Given the description of an element on the screen output the (x, y) to click on. 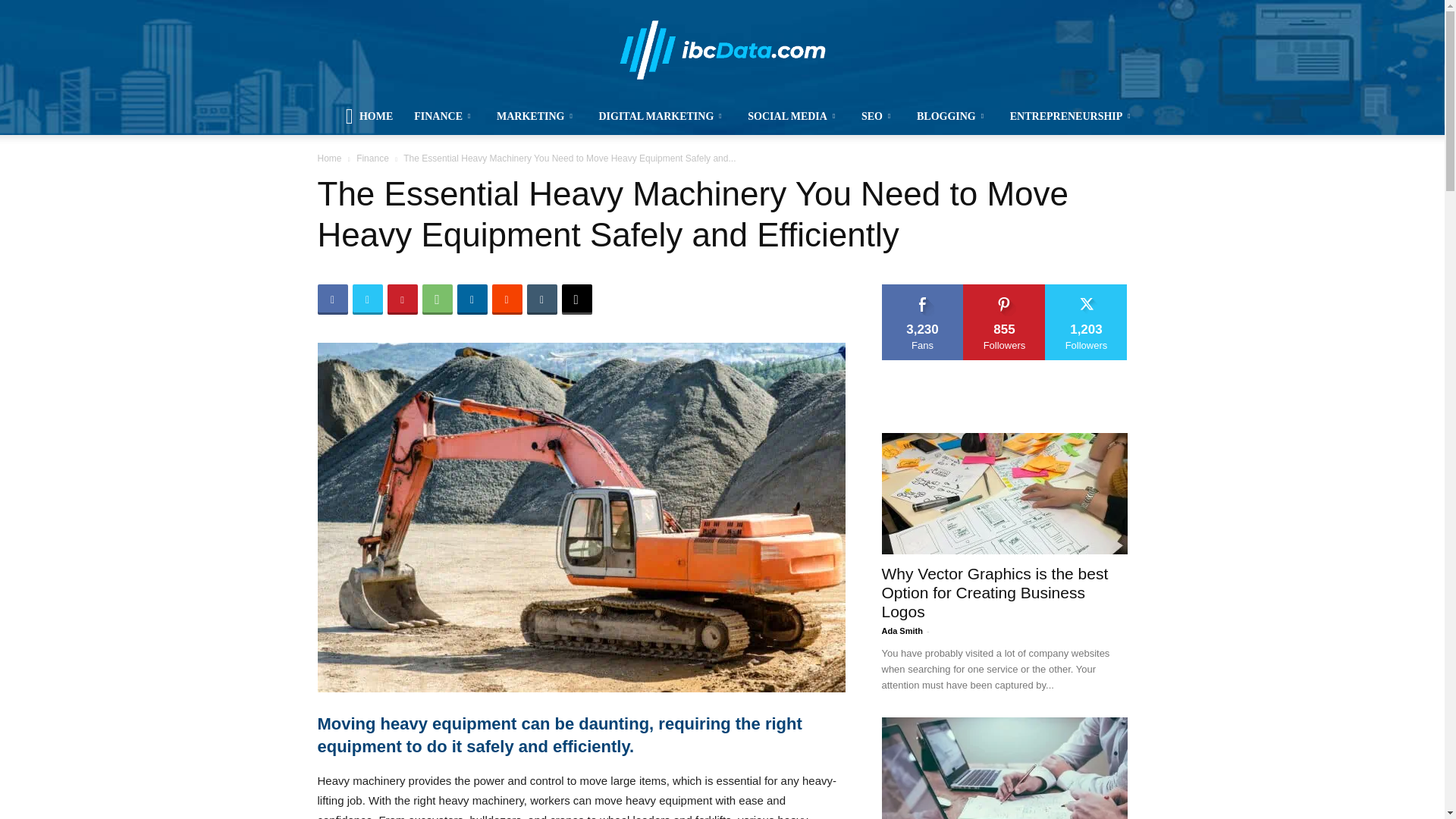
FINANCE (444, 116)
MARKETING (537, 116)
HOME (369, 116)
